Given the description of an element on the screen output the (x, y) to click on. 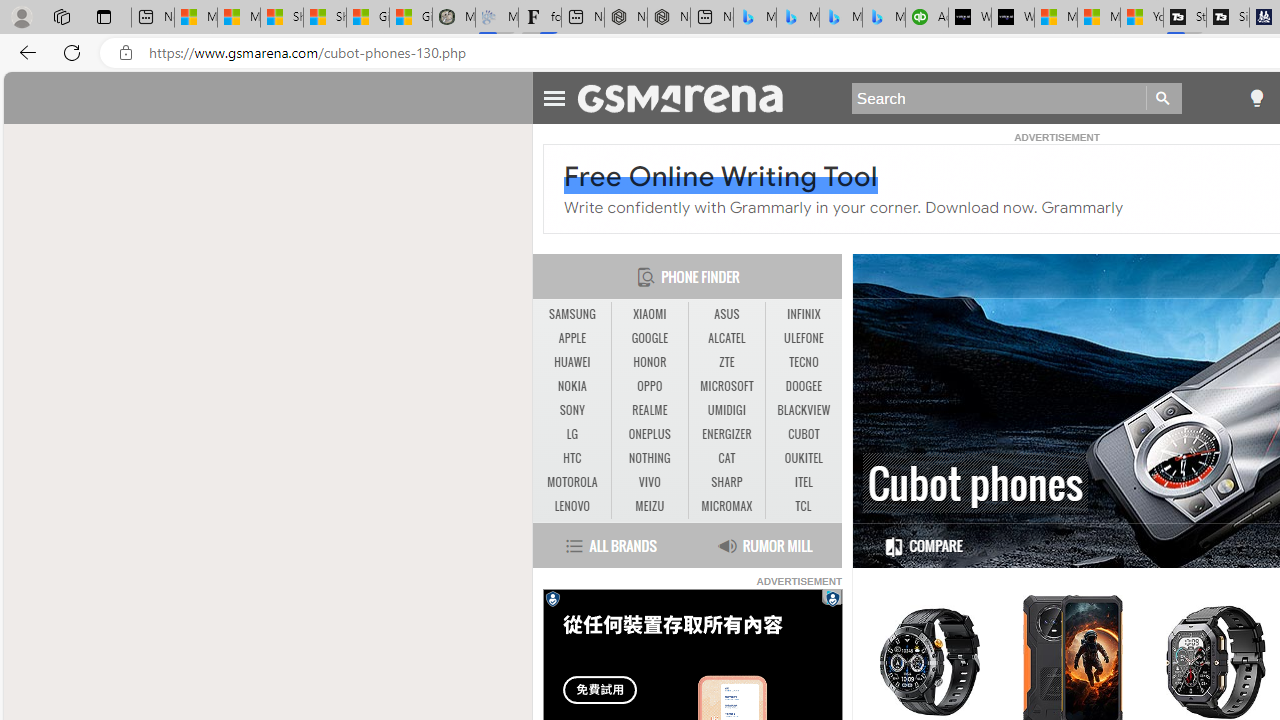
HONOR (649, 362)
LG (571, 434)
CUBOT (803, 434)
AutomationID: anchor (689, 97)
TCL (803, 506)
MICROMAX (726, 506)
ENERGIZER (726, 434)
ULEFONE (803, 339)
